Given the description of an element on the screen output the (x, y) to click on. 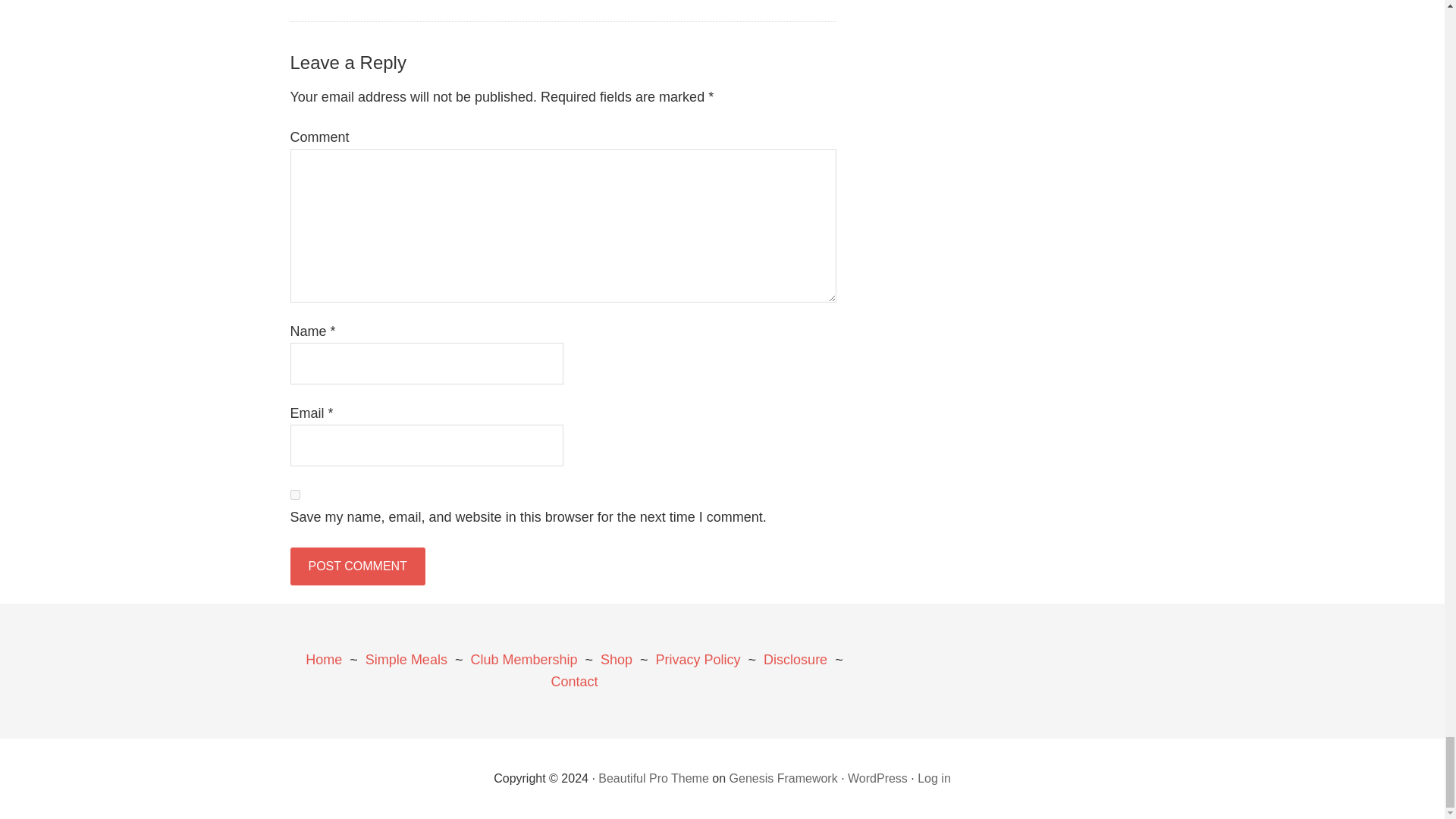
Post Comment (357, 565)
yes (294, 494)
